Given the description of an element on the screen output the (x, y) to click on. 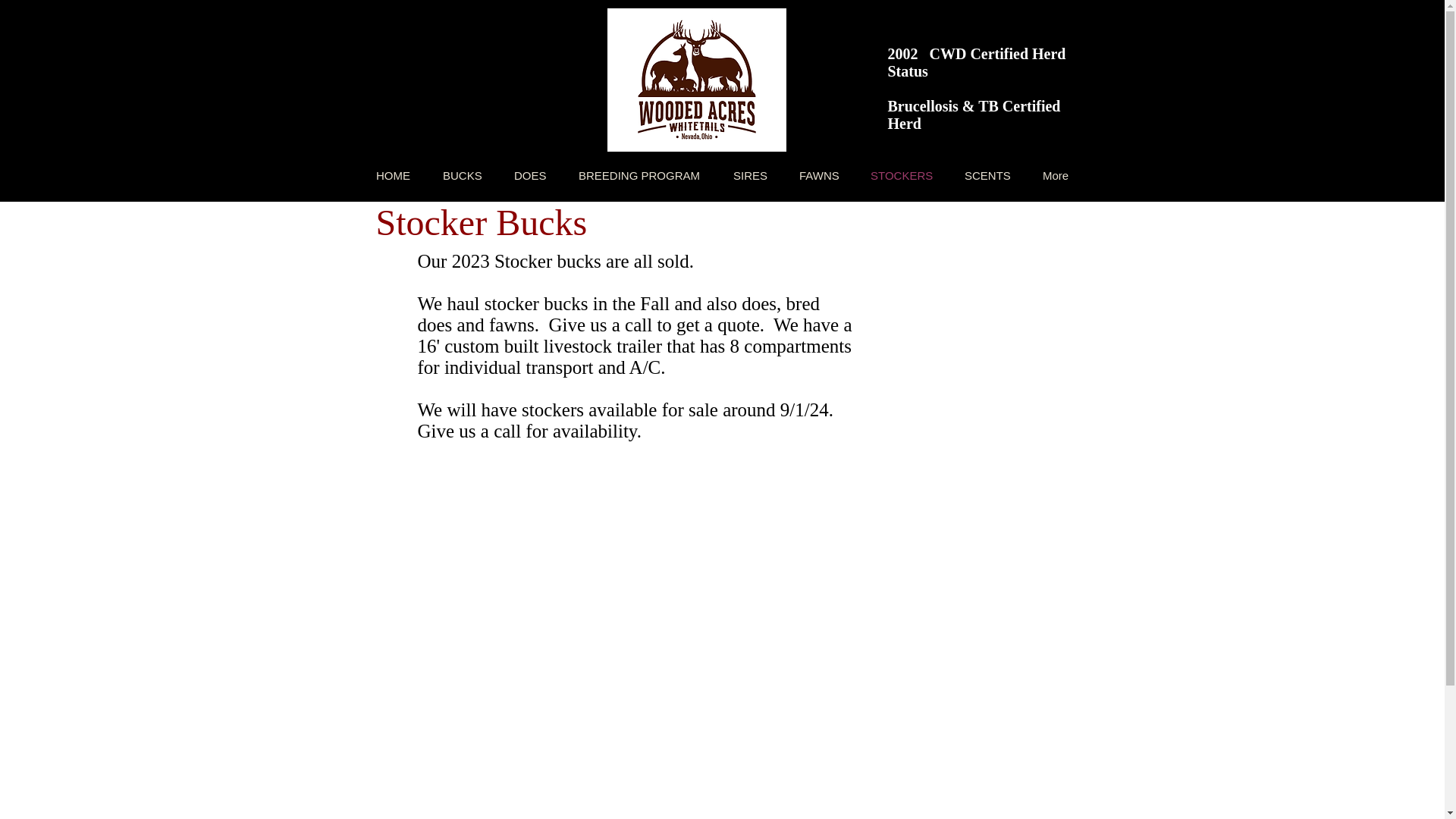
HOME (392, 175)
FAWNS (818, 175)
DOES (529, 175)
STOCKERS (901, 175)
BUCKS (461, 175)
BREEDING PROGRAM (639, 175)
SCENTS (987, 175)
SIRES (750, 175)
